Given the description of an element on the screen output the (x, y) to click on. 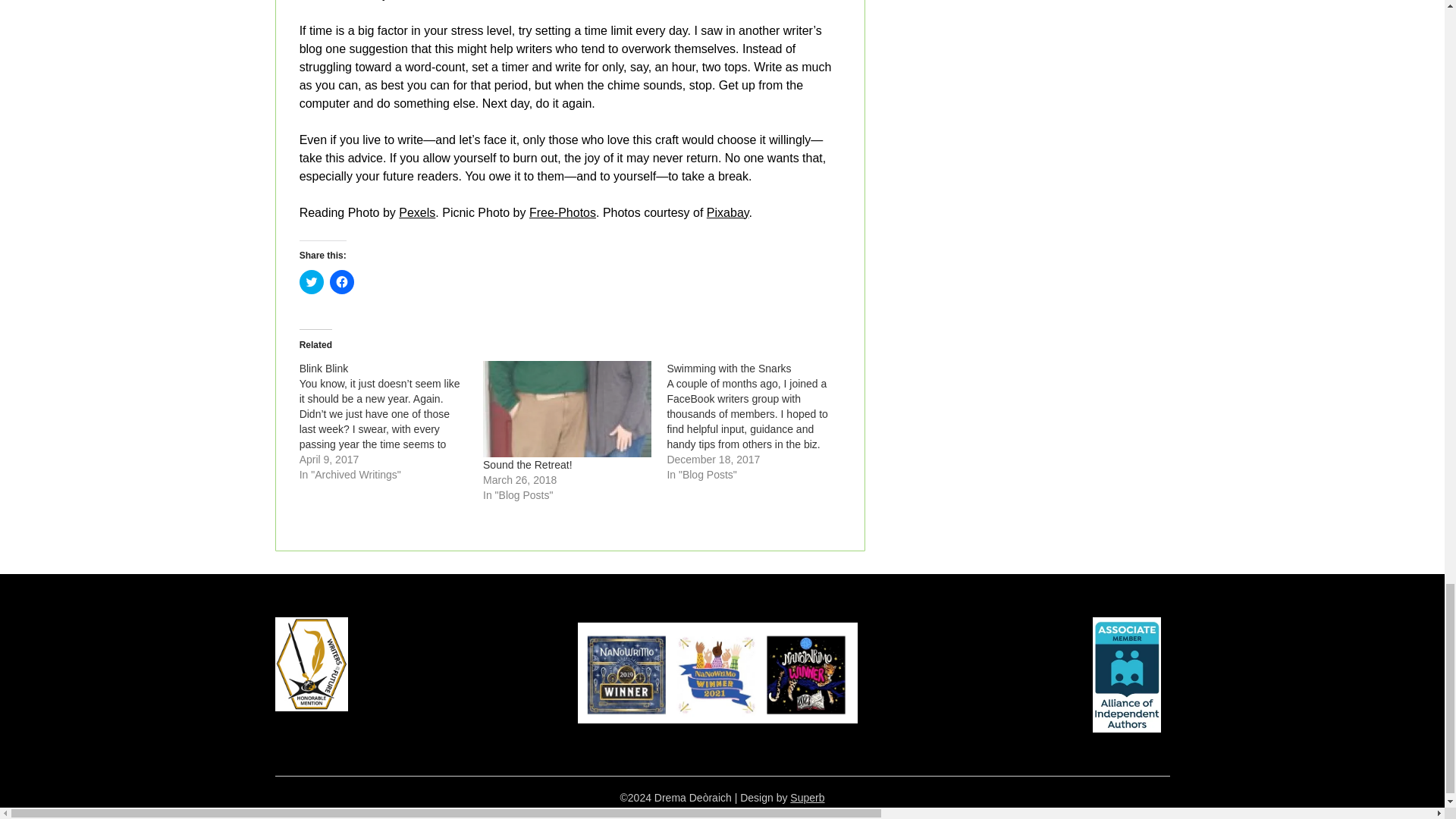
Sound the Retreat! (566, 409)
Click to share on Facebook (341, 282)
Free-Photos (562, 212)
Click to share on Twitter (311, 282)
Swimming with the Snarks (728, 368)
Blink Blink (324, 368)
Blink Blink (391, 421)
Sound the Retreat! (527, 464)
Swimming with the Snarks (758, 421)
Pexels (416, 212)
